Given the description of an element on the screen output the (x, y) to click on. 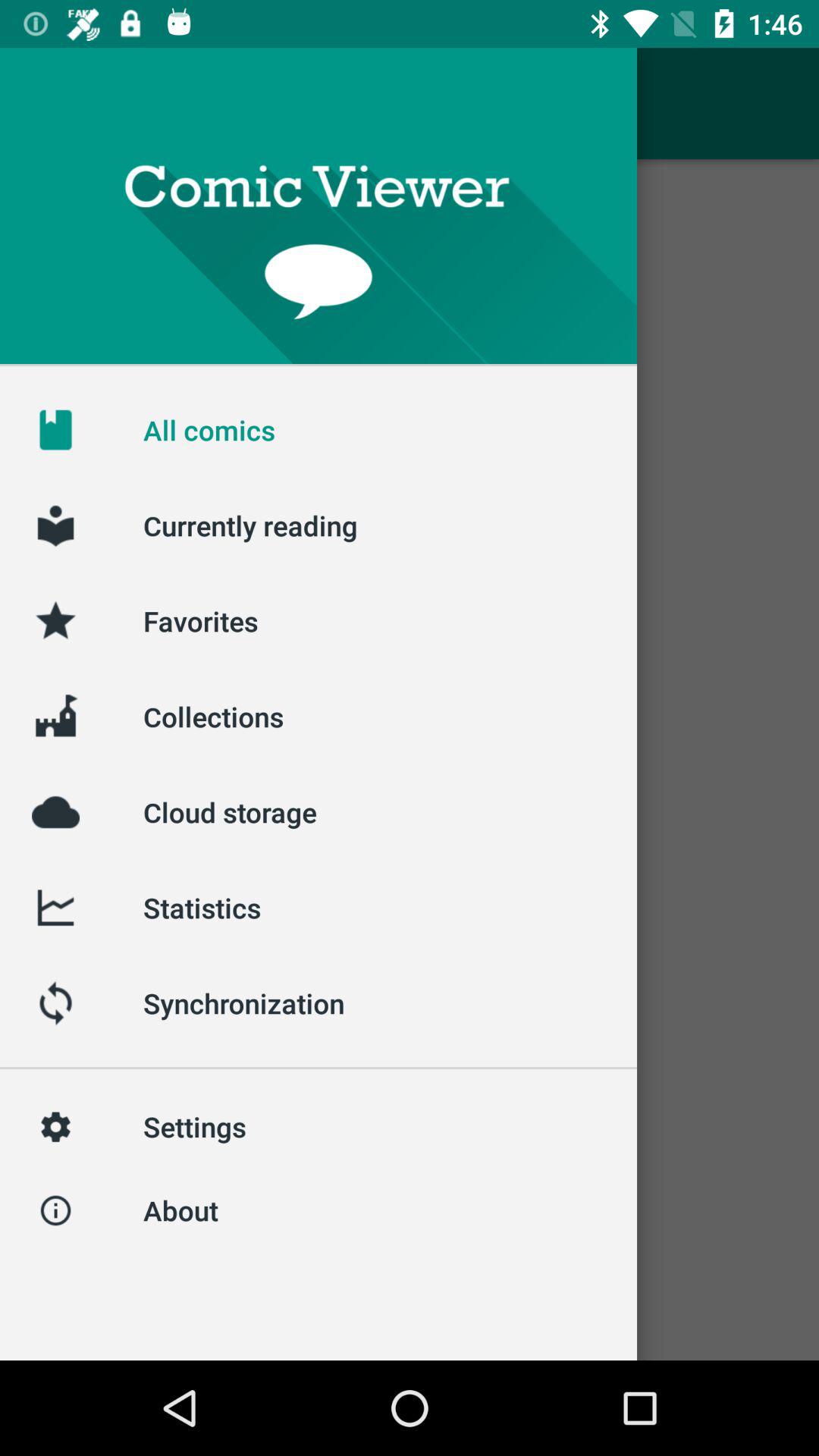
click on the fifth icon from the top (55, 812)
